Given the description of an element on the screen output the (x, y) to click on. 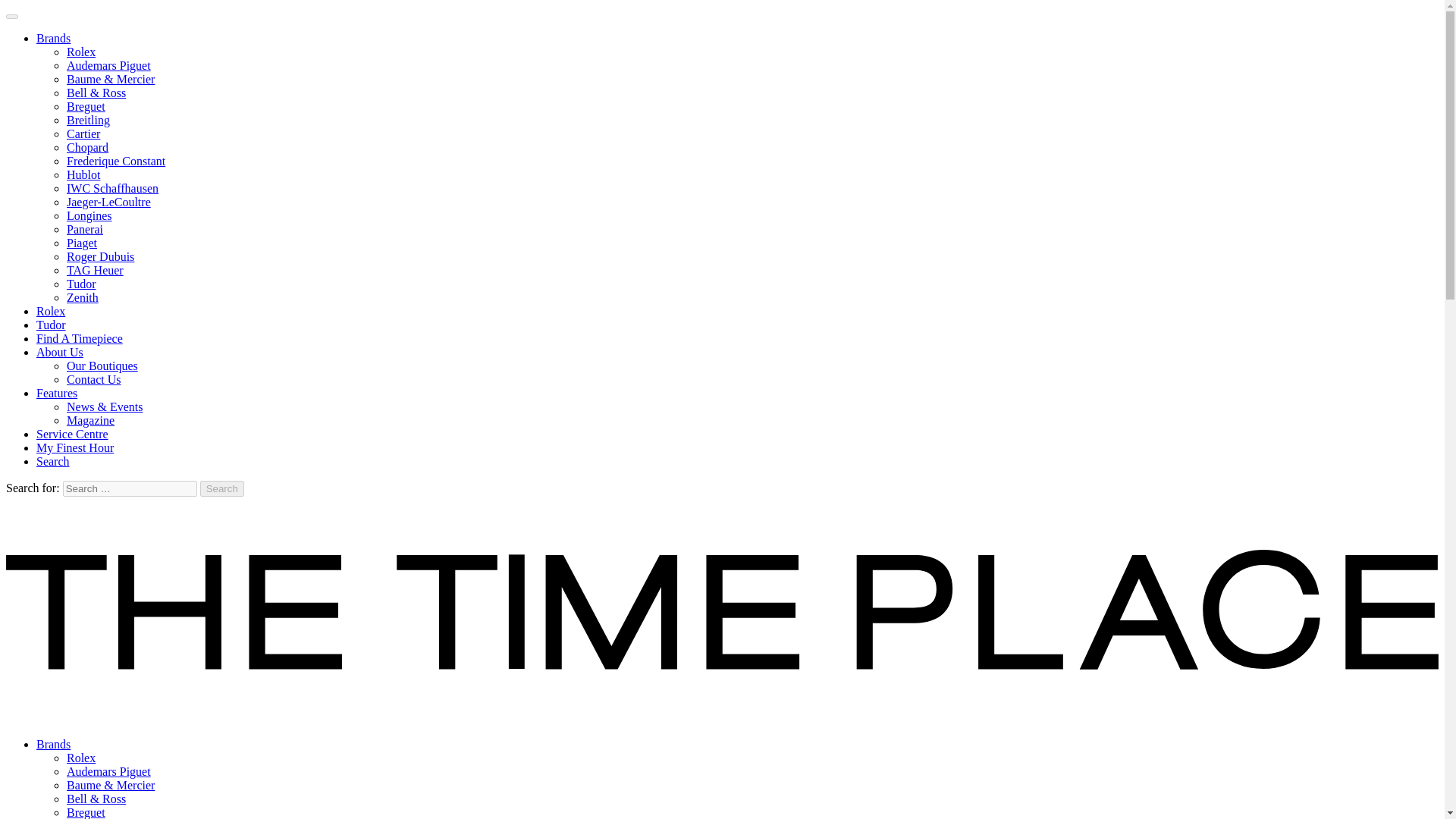
Tudor (81, 283)
Zenith (82, 297)
Frederique Constant (115, 160)
Magazine (90, 420)
Breguet (85, 106)
Find A Timepiece (79, 338)
Piaget (81, 242)
Jaeger-LeCoultre (108, 201)
Brands (52, 38)
Our Boutiques (102, 365)
Rolex (50, 310)
Chopard (86, 146)
Search (52, 461)
Contact Us (93, 379)
Breitling (88, 119)
